Given the description of an element on the screen output the (x, y) to click on. 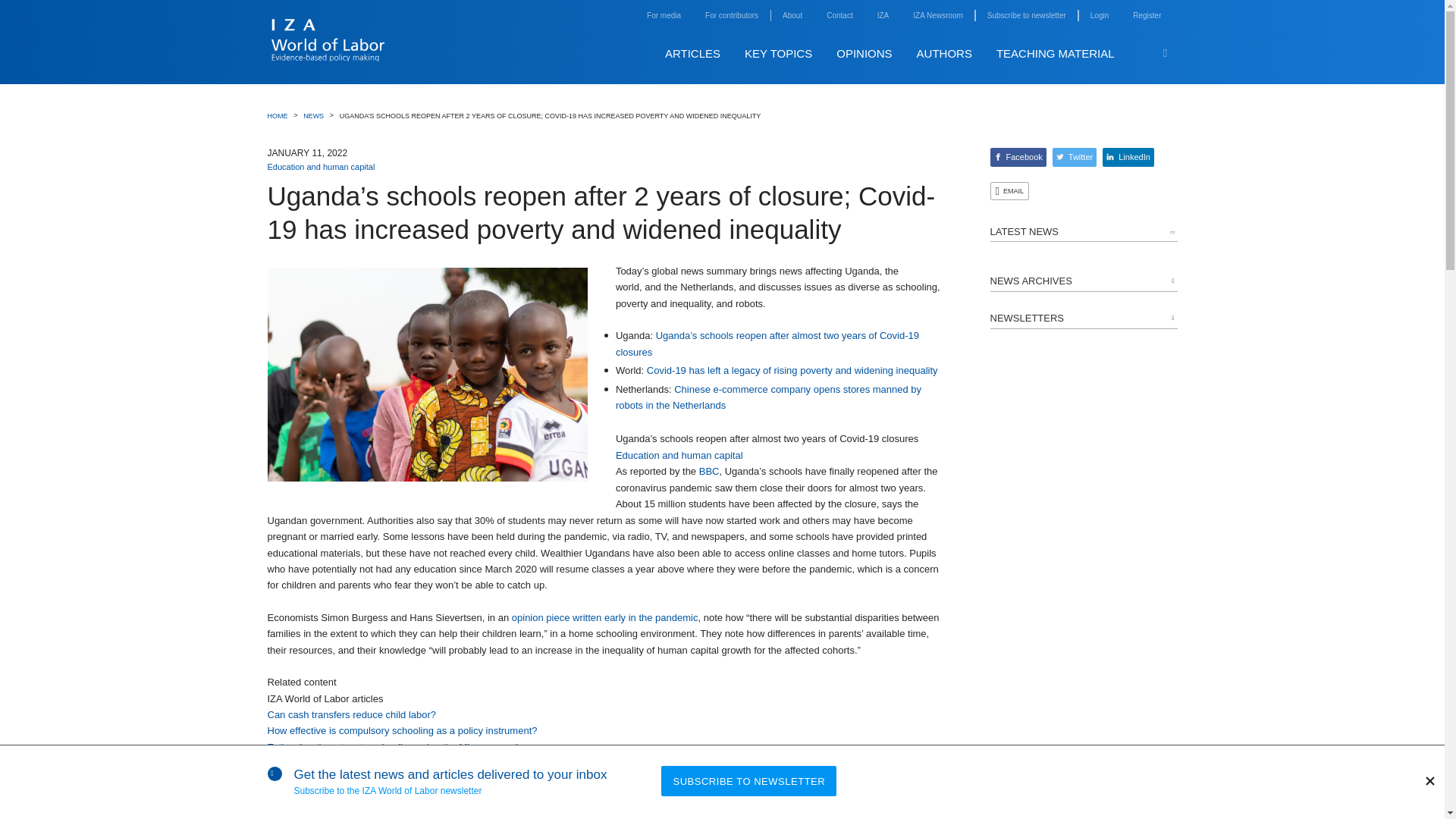
subscribe to newsletter (1026, 15)
contact (839, 15)
register (1146, 15)
For media (663, 15)
IZA Newsroom (937, 15)
about (792, 15)
for contributors (731, 15)
ARTICLES (692, 52)
Login (1099, 15)
Skip to main content (1189, 37)
